Given the description of an element on the screen output the (x, y) to click on. 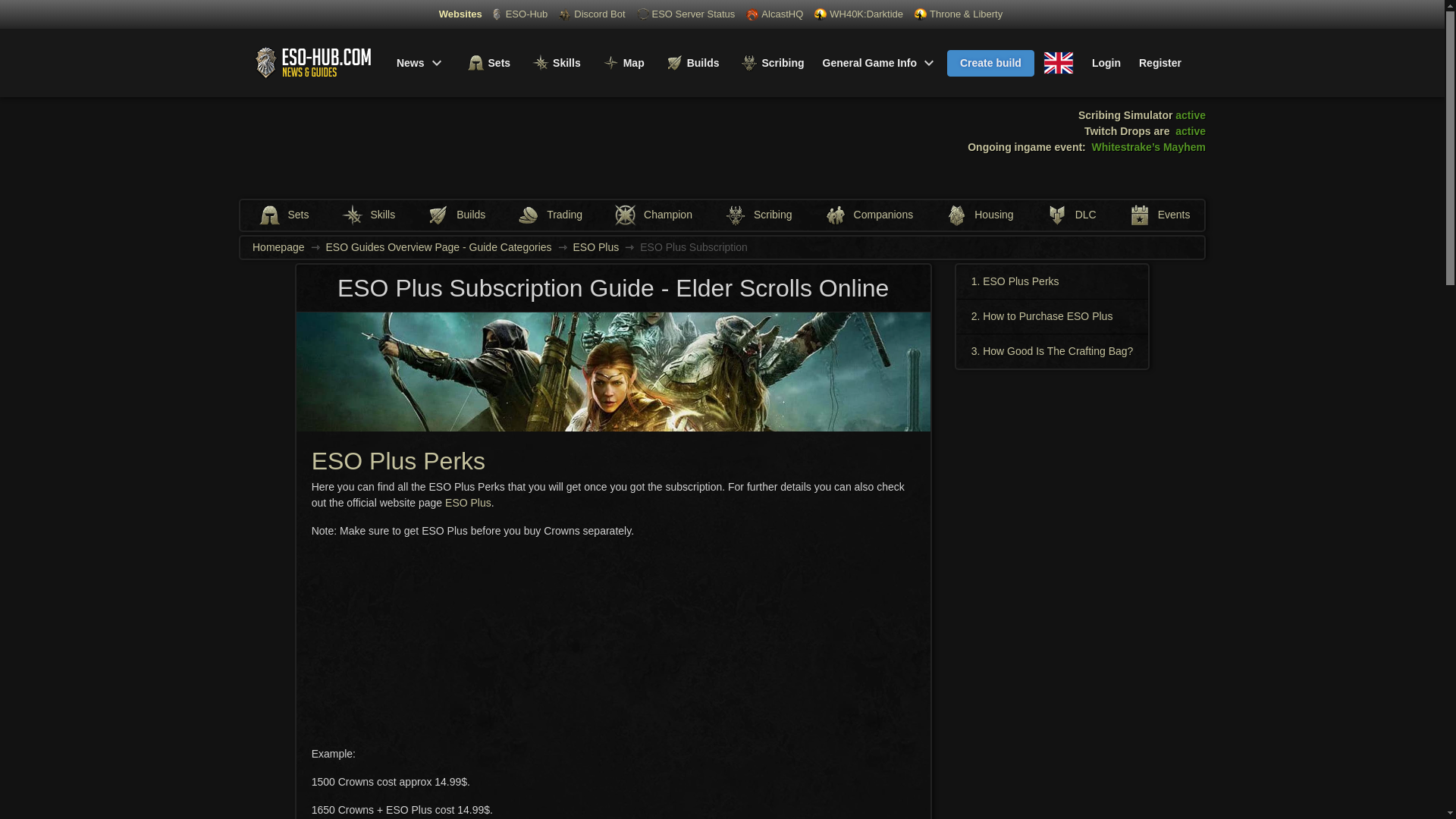
WH40K:Darktide (820, 14)
ESO-Hub (519, 14)
News (420, 62)
WH40K:Darktide (857, 14)
Discord Bot (591, 14)
ESO Server Status (685, 14)
Skills (554, 63)
Discord Bot (564, 14)
AlcastHQ (774, 14)
Sets (486, 63)
Map (621, 63)
General Game Info (879, 62)
Scribing (770, 63)
Builds (691, 63)
ESO Server Status (643, 14)
